Given the description of an element on the screen output the (x, y) to click on. 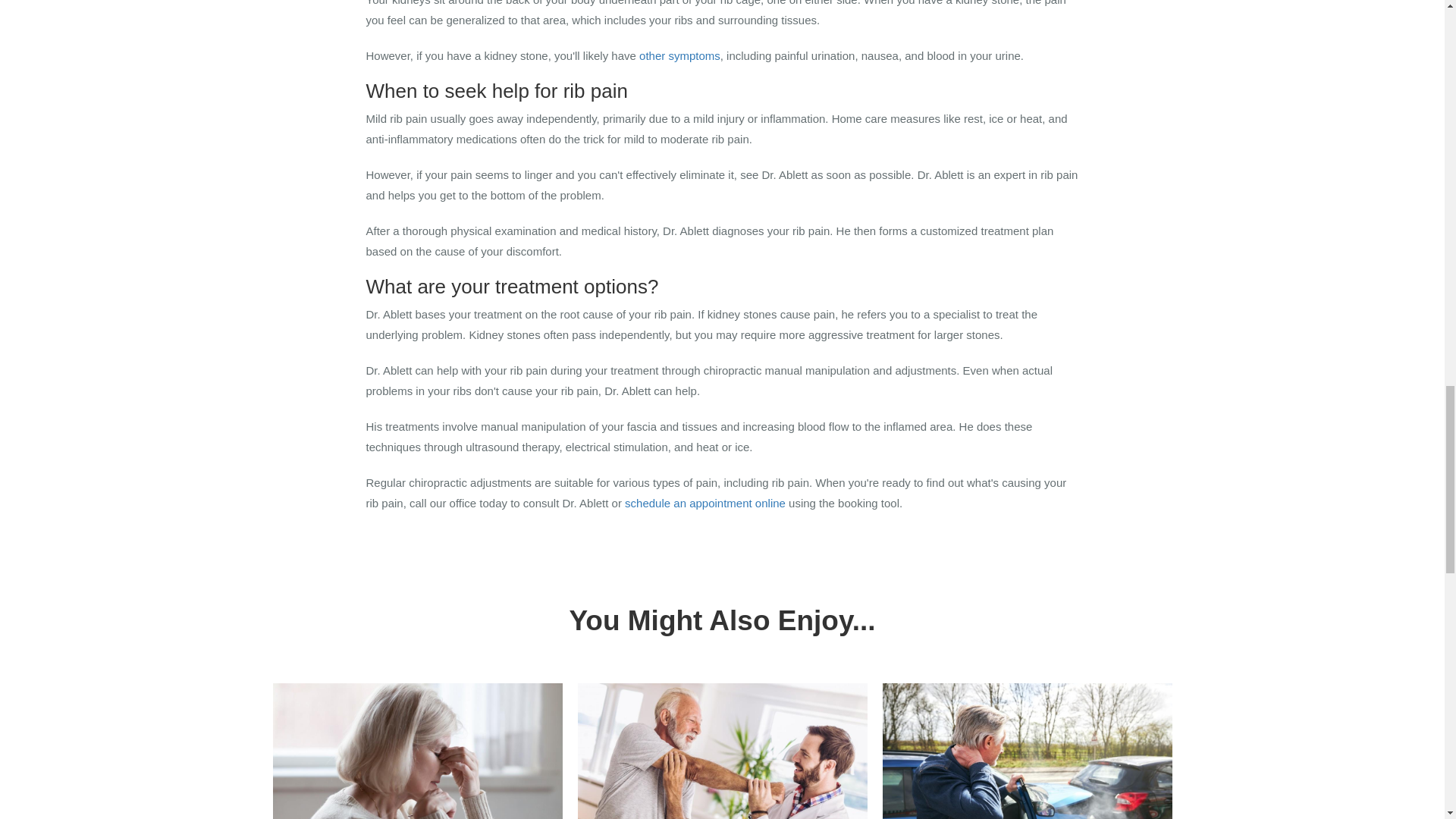
other symptoms (679, 55)
schedule an appointment online (705, 502)
All Natural Migraine Therapies That Work (417, 751)
